Given the description of an element on the screen output the (x, y) to click on. 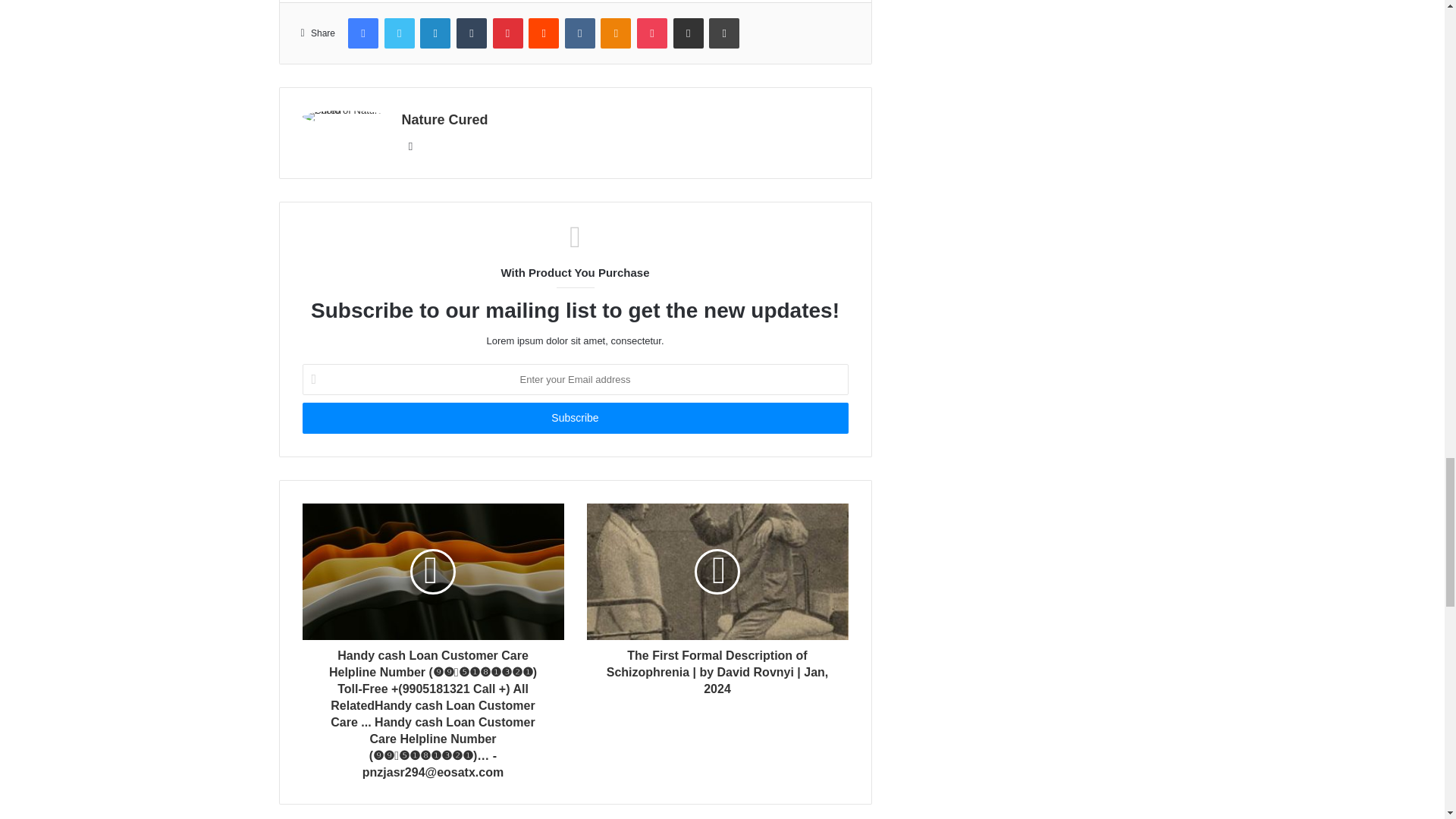
Subscribe (574, 418)
